Given the description of an element on the screen output the (x, y) to click on. 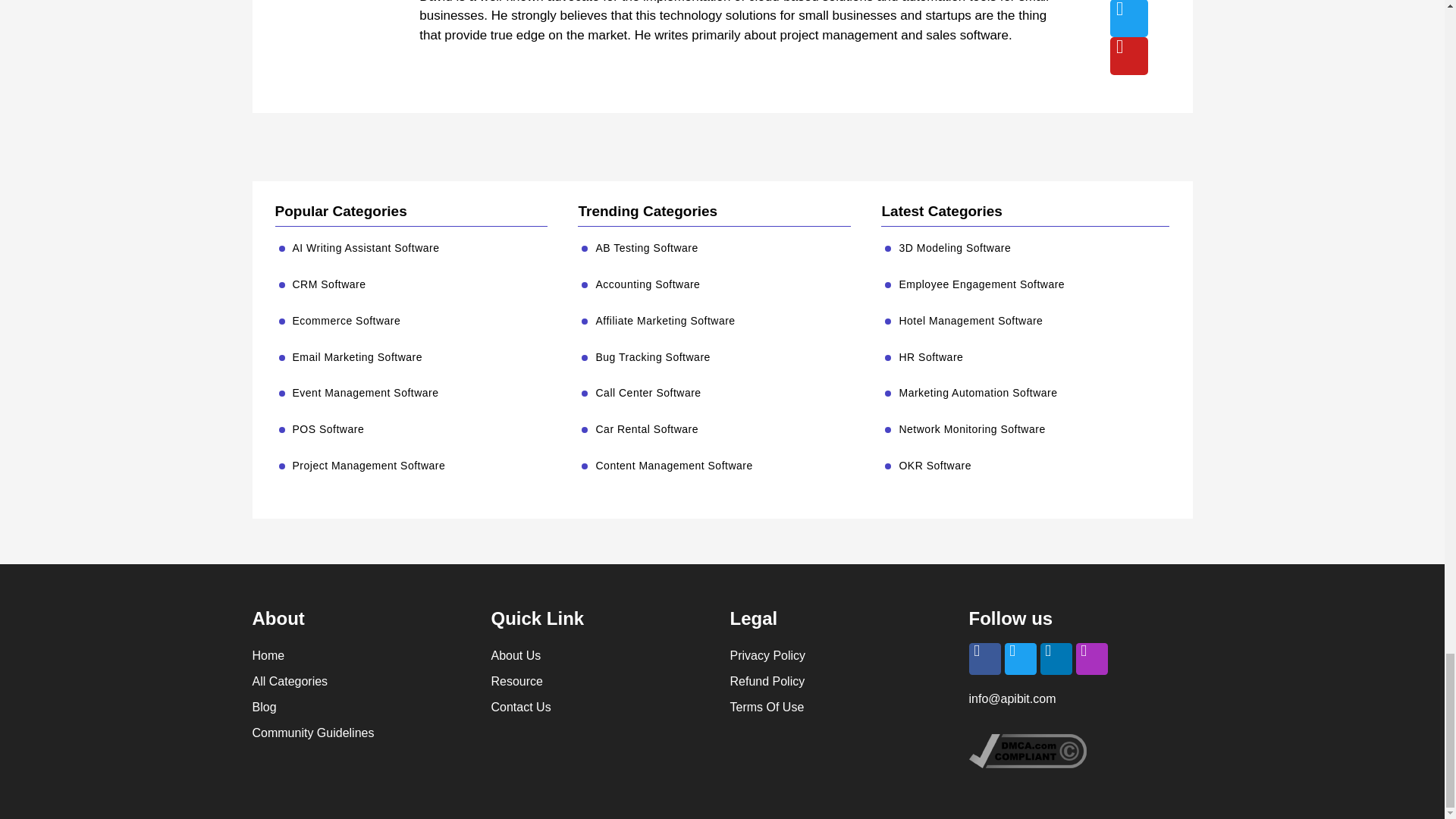
DMCA Compliance information for apibit.com (1027, 763)
